Given the description of an element on the screen output the (x, y) to click on. 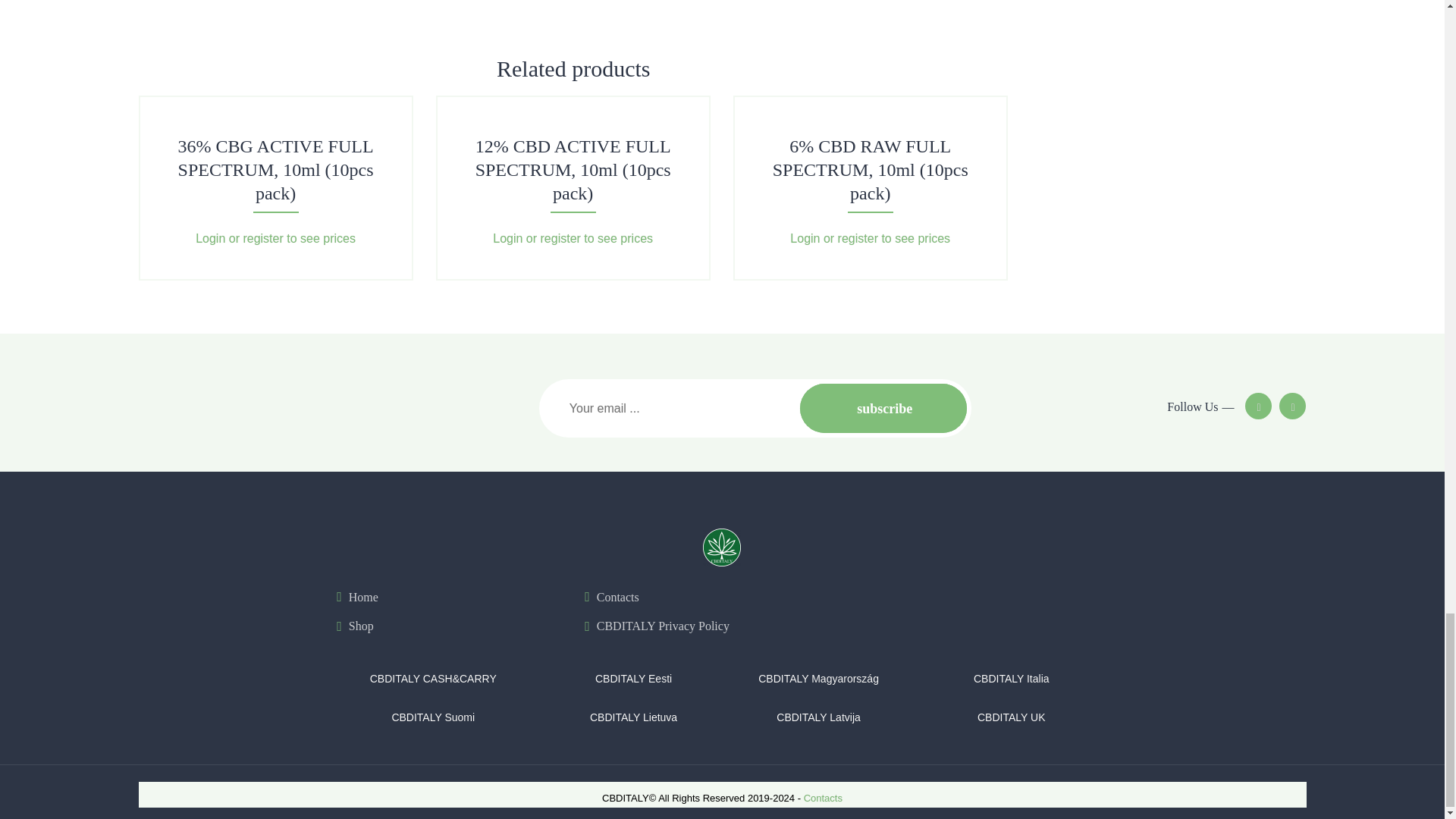
Login or register to see prices (275, 237)
